Given the description of an element on the screen output the (x, y) to click on. 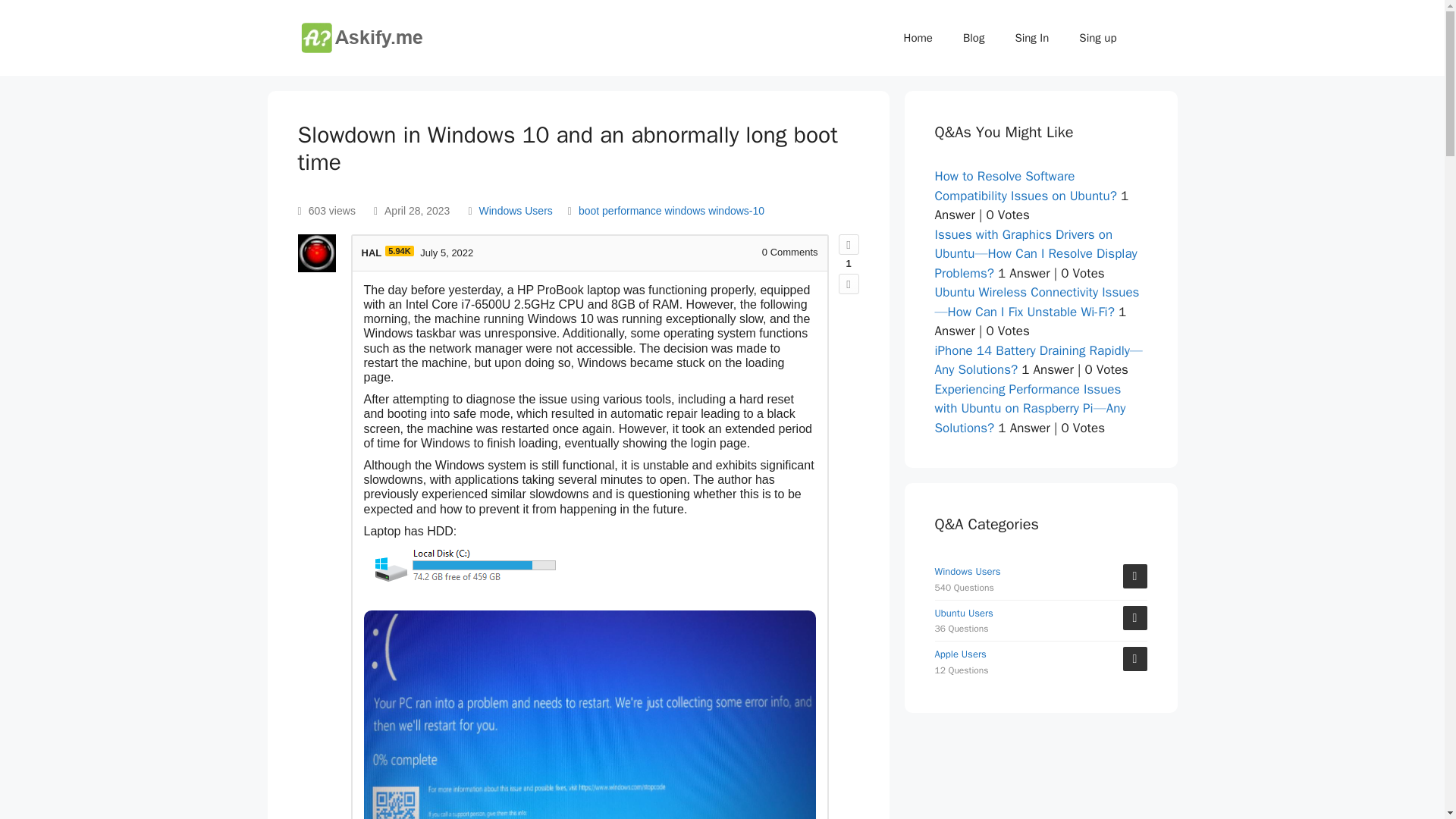
windows-10 (735, 210)
Up vote this question (848, 244)
Sing up (1097, 37)
Reputation (399, 250)
5.94K (399, 250)
Blog (972, 37)
Sing In (1031, 37)
Down vote this question (848, 283)
performance (632, 210)
For help MS Windows users solve their problems. (516, 210)
